Given the description of an element on the screen output the (x, y) to click on. 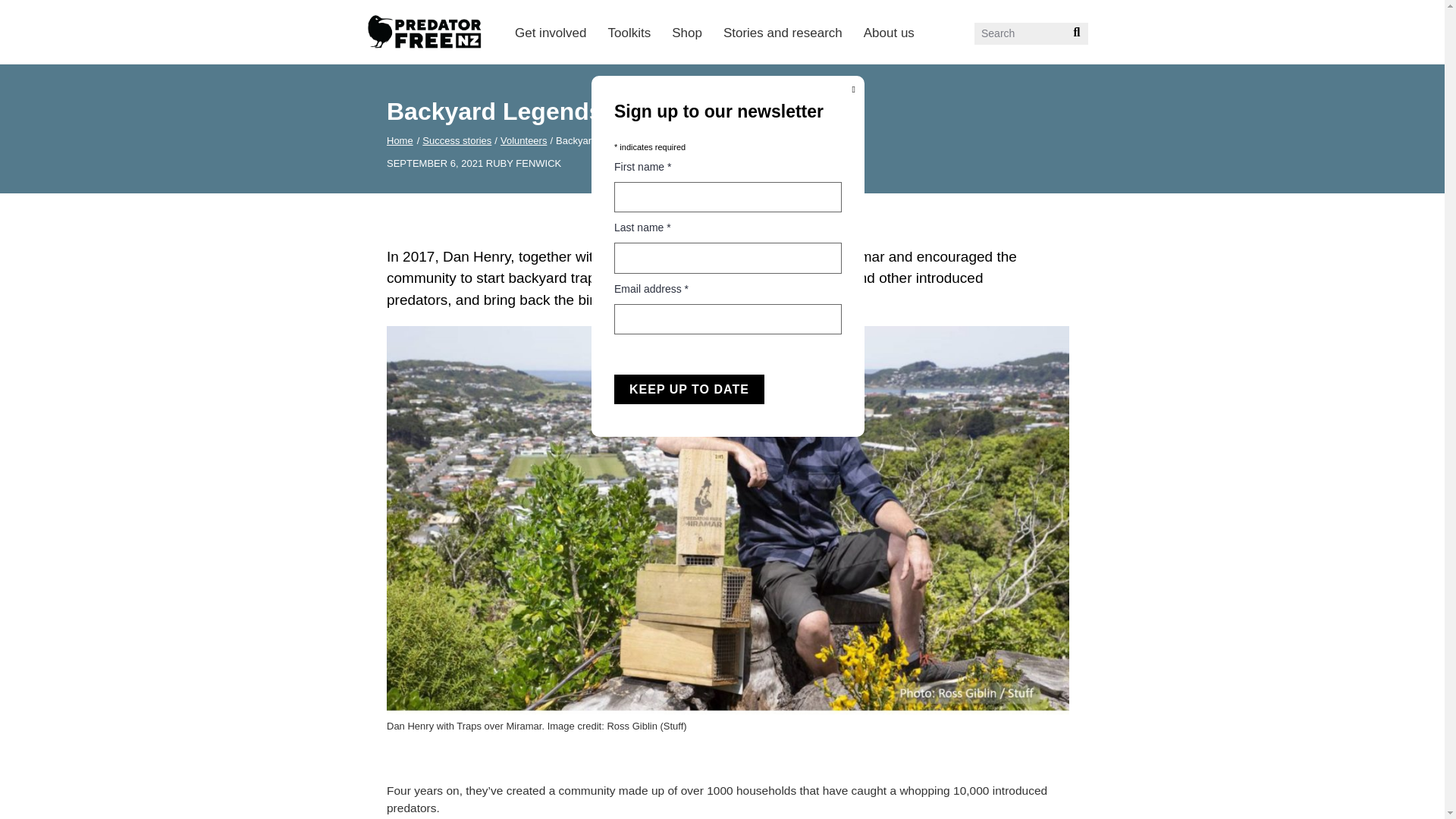
Search for: (1030, 33)
Search (1070, 37)
Backyard Legends: Dan Henry (623, 140)
Category Name (457, 140)
Predator Free NZ Trust (437, 72)
Get involved (550, 32)
Volunteers (523, 140)
Keep up to date (689, 389)
Toolkits (629, 32)
